Given the description of an element on the screen output the (x, y) to click on. 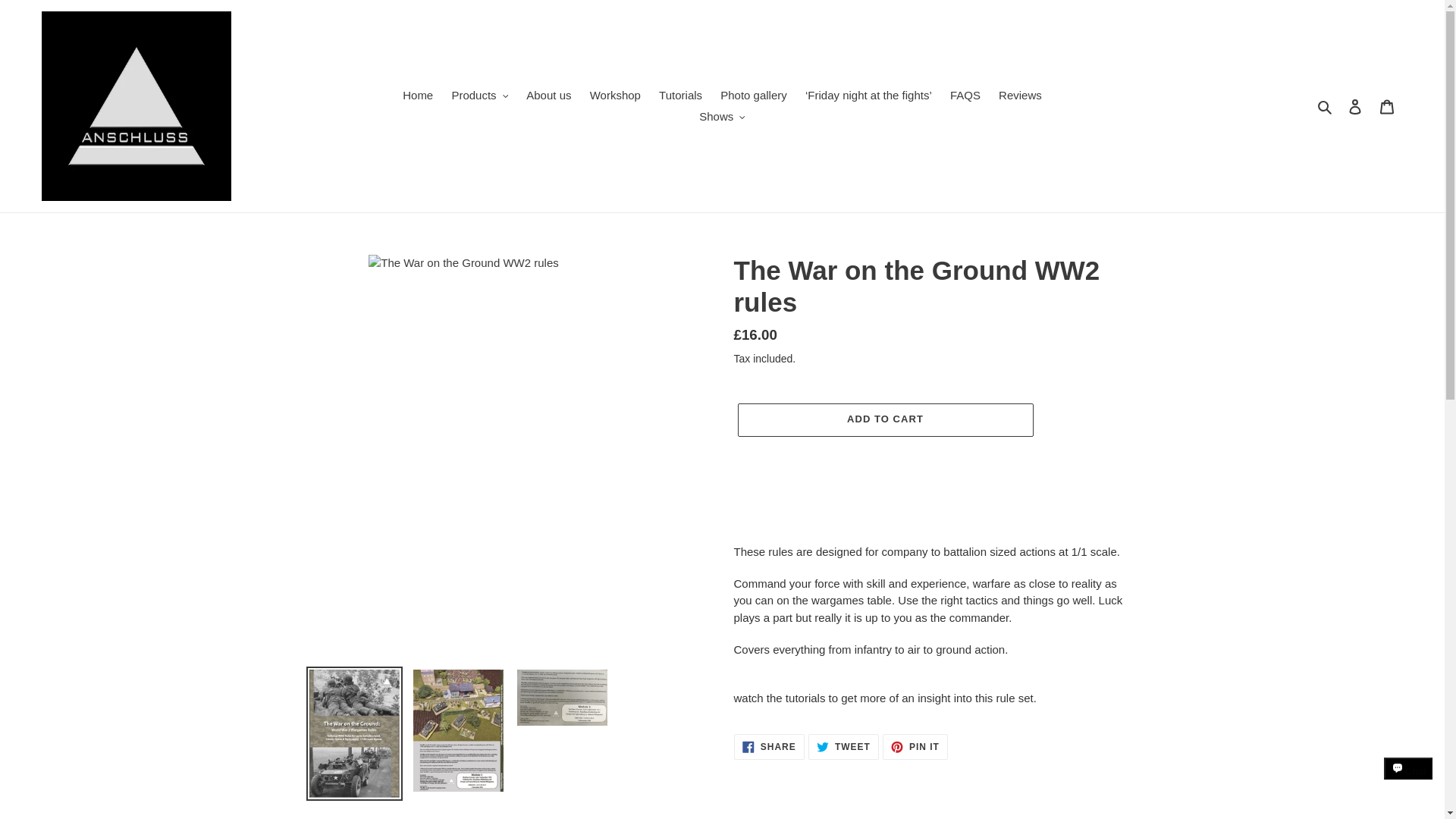
Search (1326, 106)
Tutorials (680, 96)
Cart (1387, 106)
Workshop (614, 96)
FAQS (965, 96)
Home (417, 96)
Photo gallery (753, 96)
Shows (721, 116)
Shopify online store chat (1408, 781)
Products (479, 96)
